Given the description of an element on the screen output the (x, y) to click on. 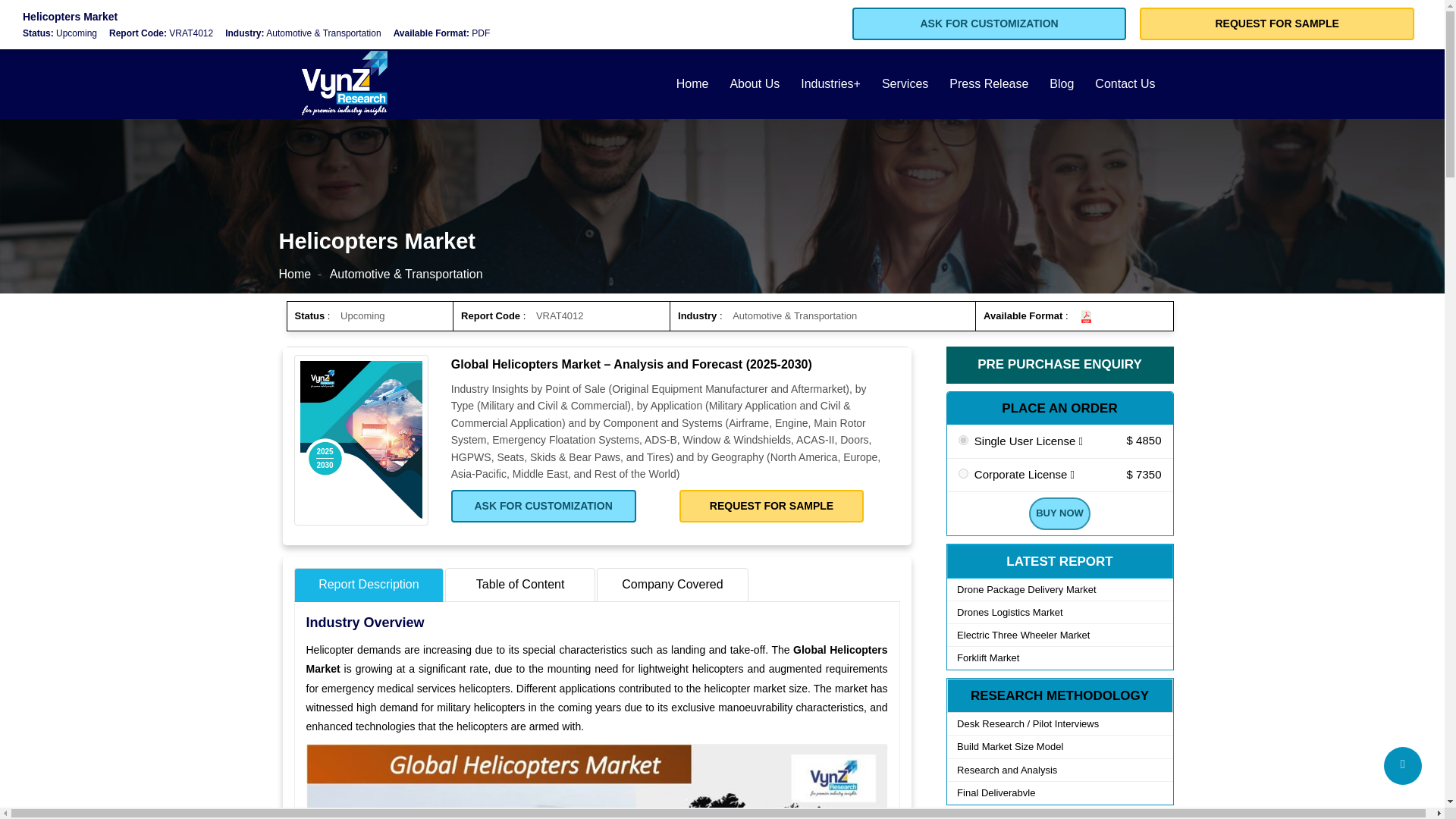
 Drones Logistics Market (1059, 612)
Table of Content (520, 584)
Contact Us (1125, 84)
 1-888-253-3960 (322, 19)
Blog (1061, 84)
Buy Now (1059, 513)
REQUEST FOR SAMPLE (771, 505)
ASK FOR CUSTOMIZATION (543, 505)
Home (692, 84)
Services (904, 84)
